Given the description of an element on the screen output the (x, y) to click on. 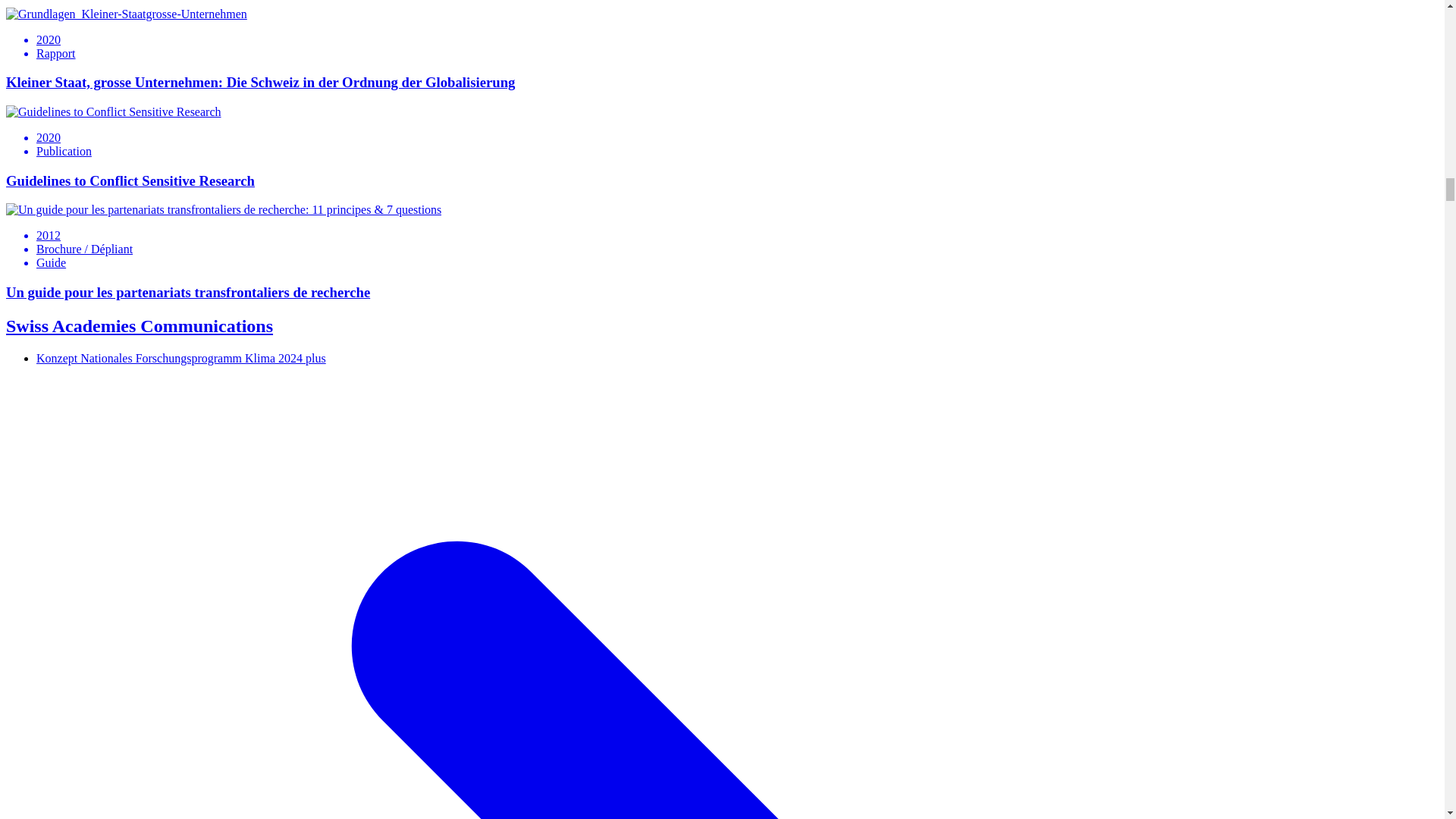
Guidelines to Conflict Sensitive Research (113, 111)
